Given the description of an element on the screen output the (x, y) to click on. 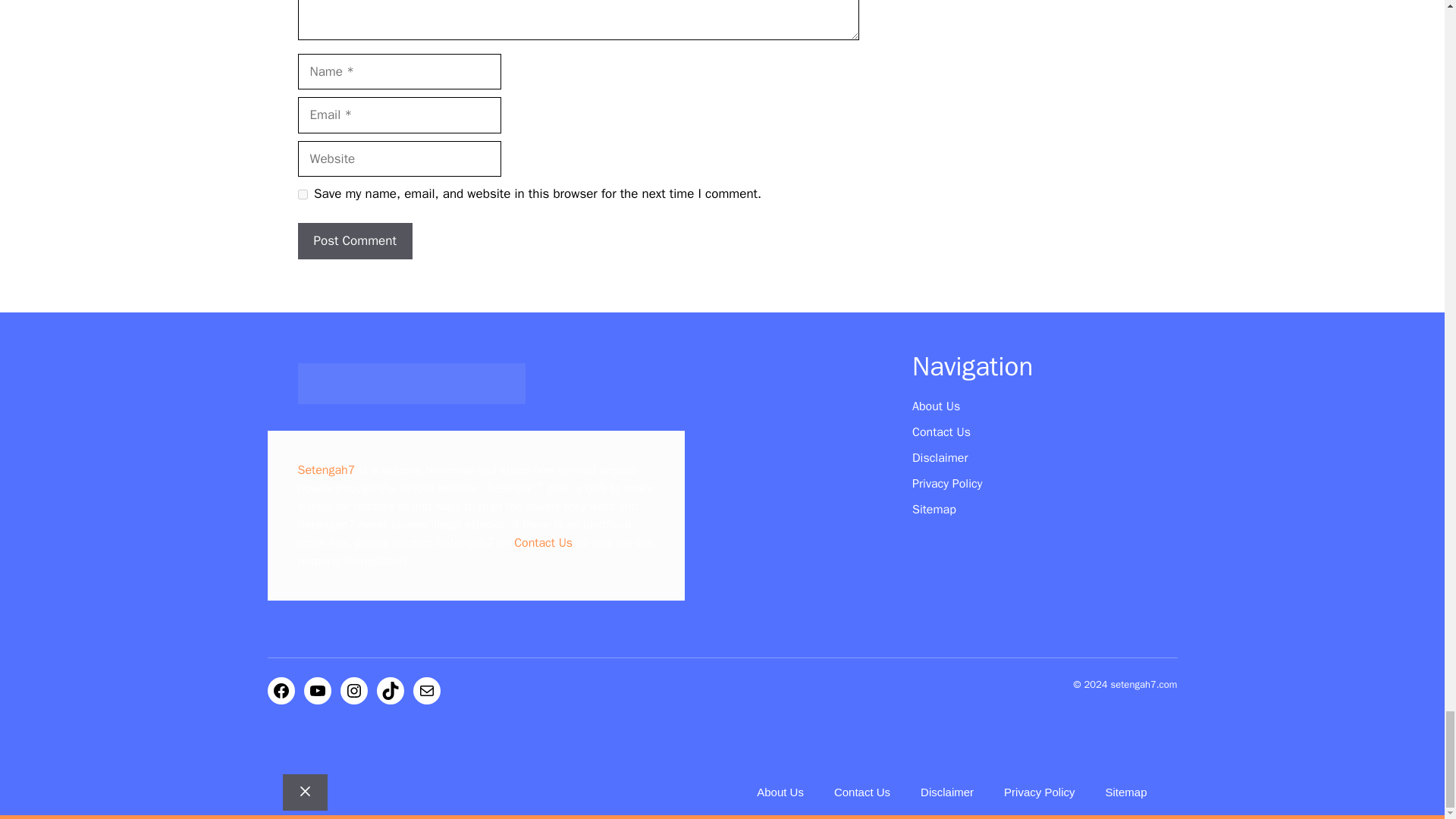
Logo-Website-setengah7.com-1 (410, 383)
yes (302, 194)
Post Comment (354, 240)
